Given the description of an element on the screen output the (x, y) to click on. 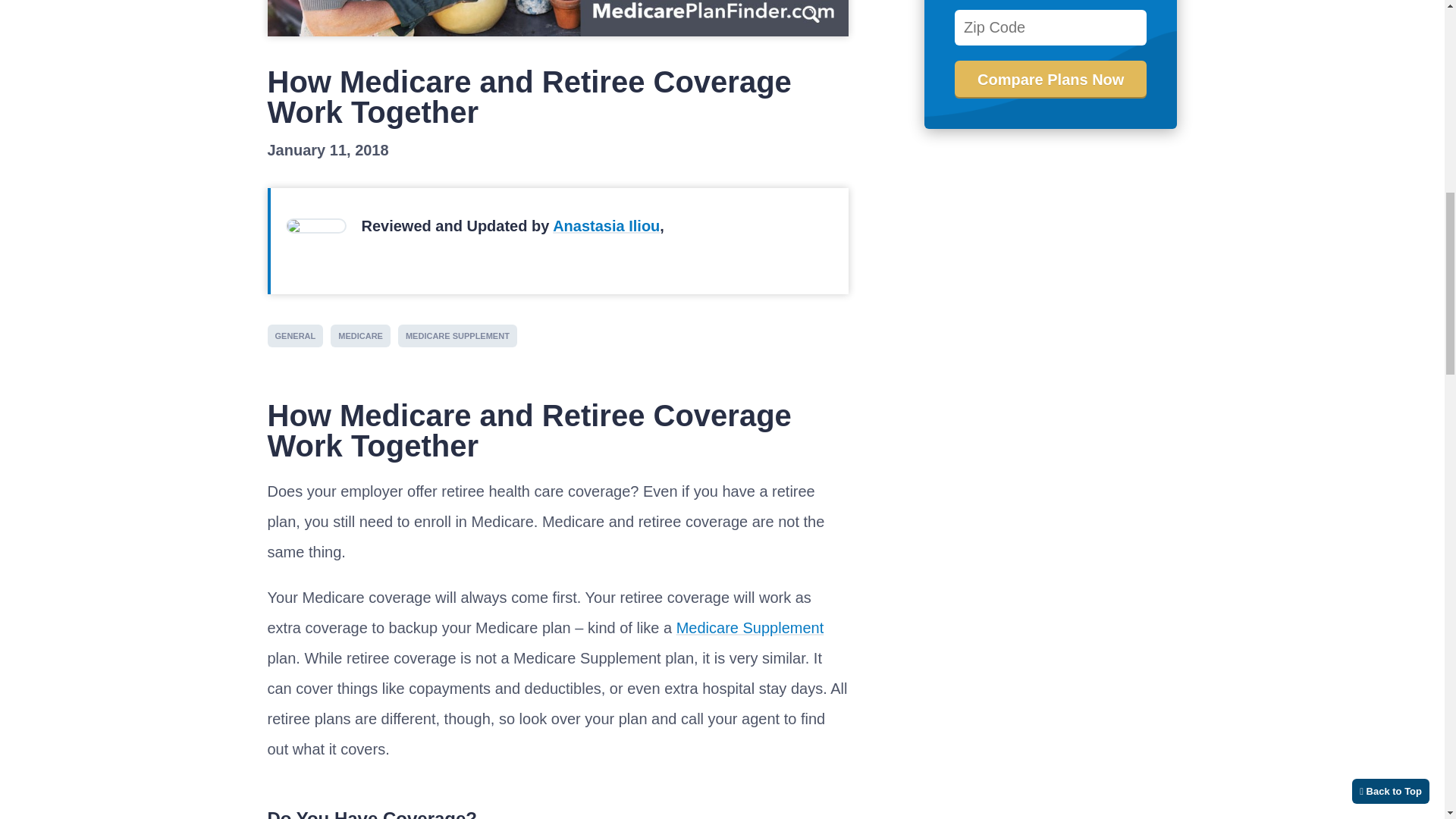
Compare Plans Now (1051, 79)
